Given the description of an element on the screen output the (x, y) to click on. 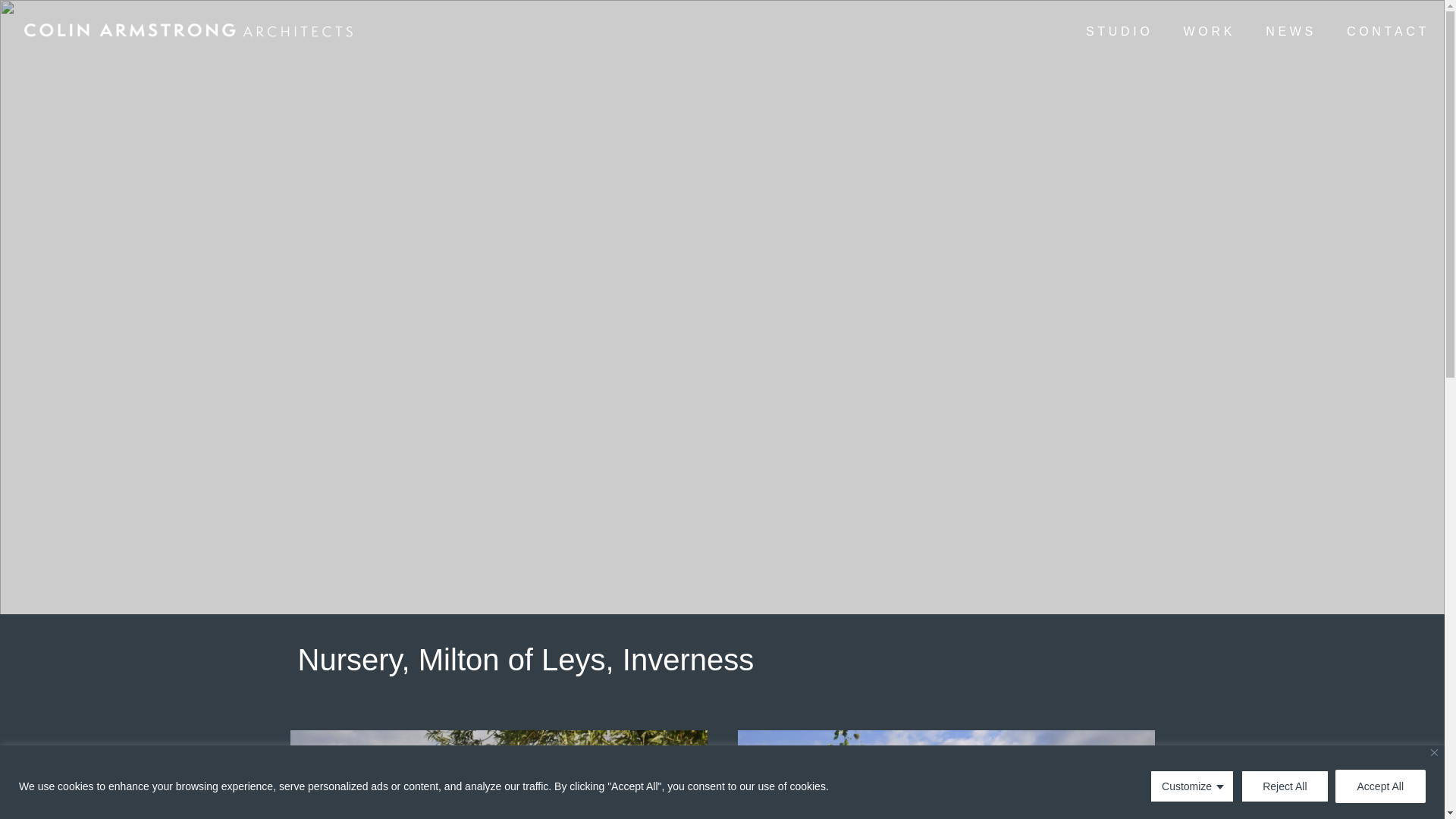
NEWS (1291, 42)
STUDIO (1119, 42)
WORK (1209, 42)
Reject All (1283, 785)
Customize (1192, 785)
Accept All (1380, 785)
